Given the description of an element on the screen output the (x, y) to click on. 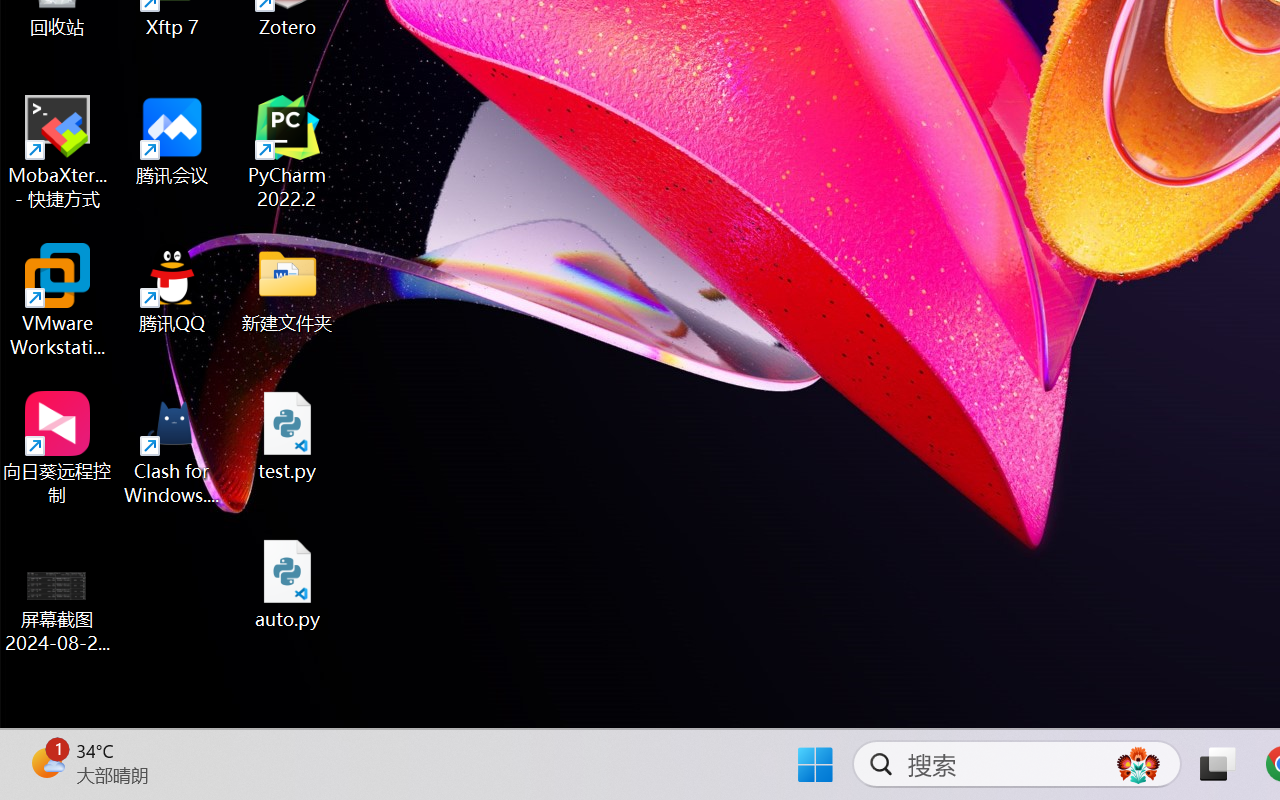
auto.py (287, 584)
test.py (287, 436)
VMware Workstation Pro (57, 300)
